Given the description of an element on the screen output the (x, y) to click on. 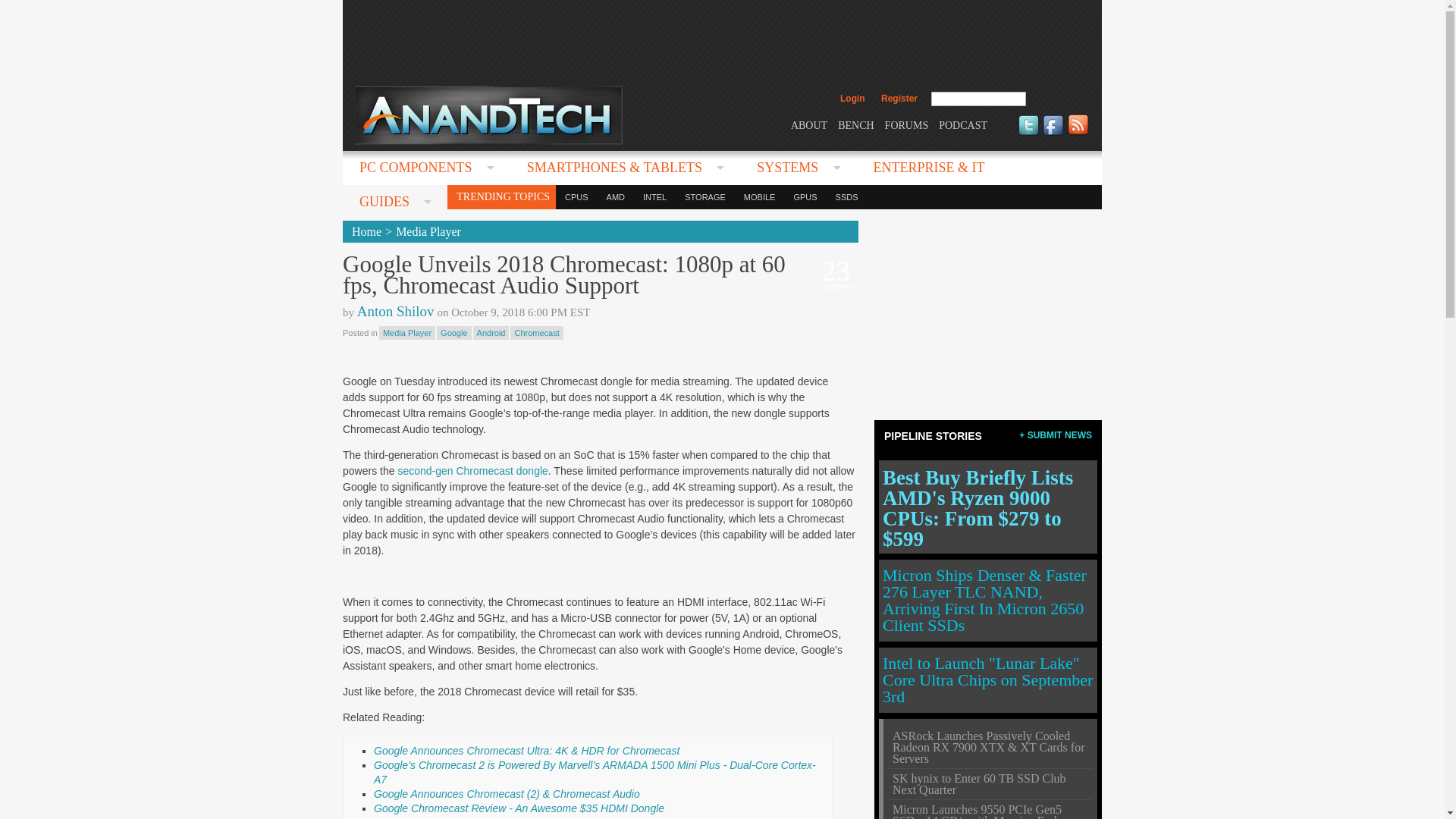
search (1059, 98)
ABOUT (808, 125)
Register (898, 98)
search (1059, 98)
search (1059, 98)
Login (852, 98)
BENCH (855, 125)
PODCAST (963, 125)
FORUMS (906, 125)
